Given the description of an element on the screen output the (x, y) to click on. 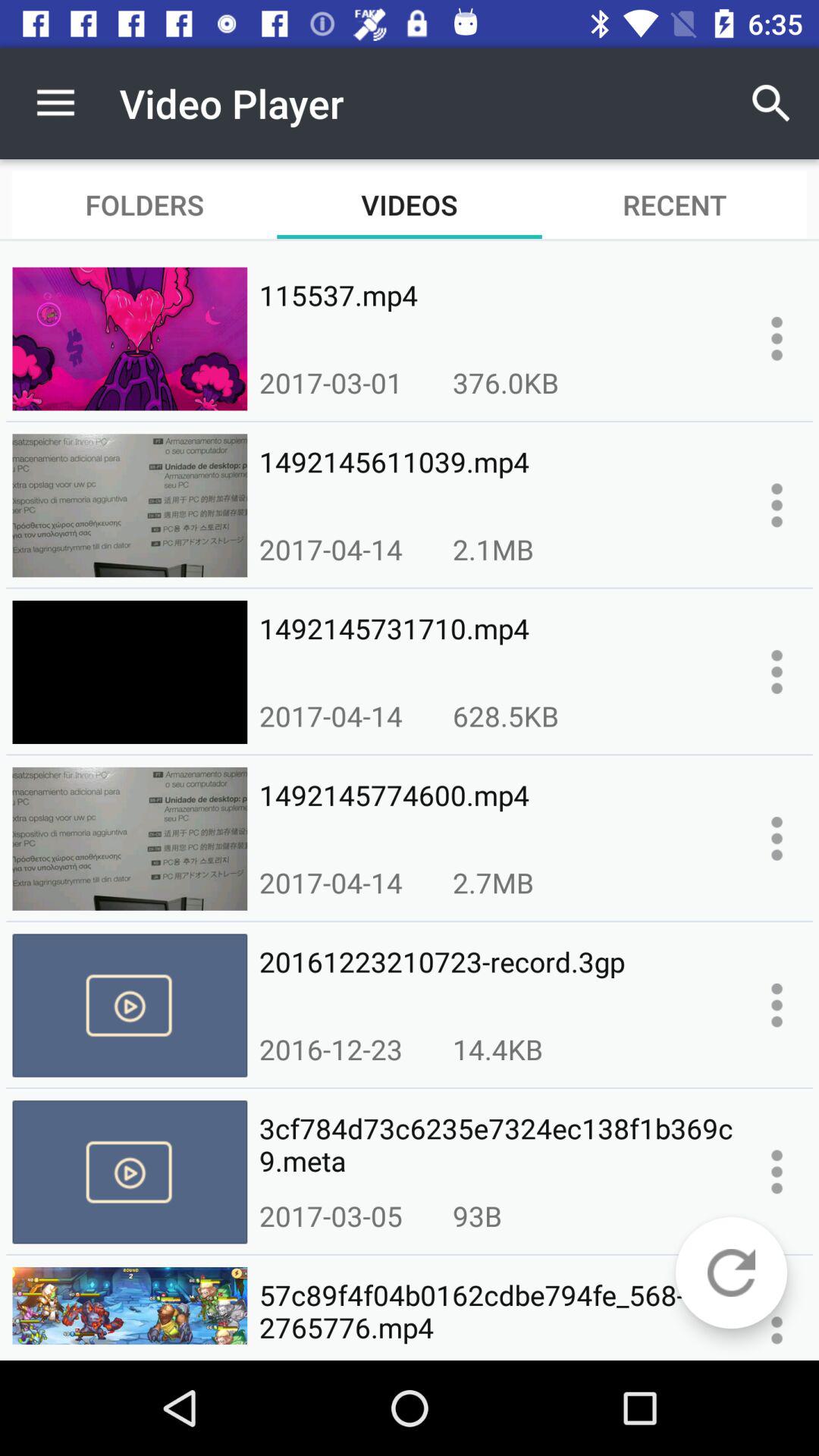
turn off icon next to 2017-03-05 icon (477, 1215)
